Given the description of an element on the screen output the (x, y) to click on. 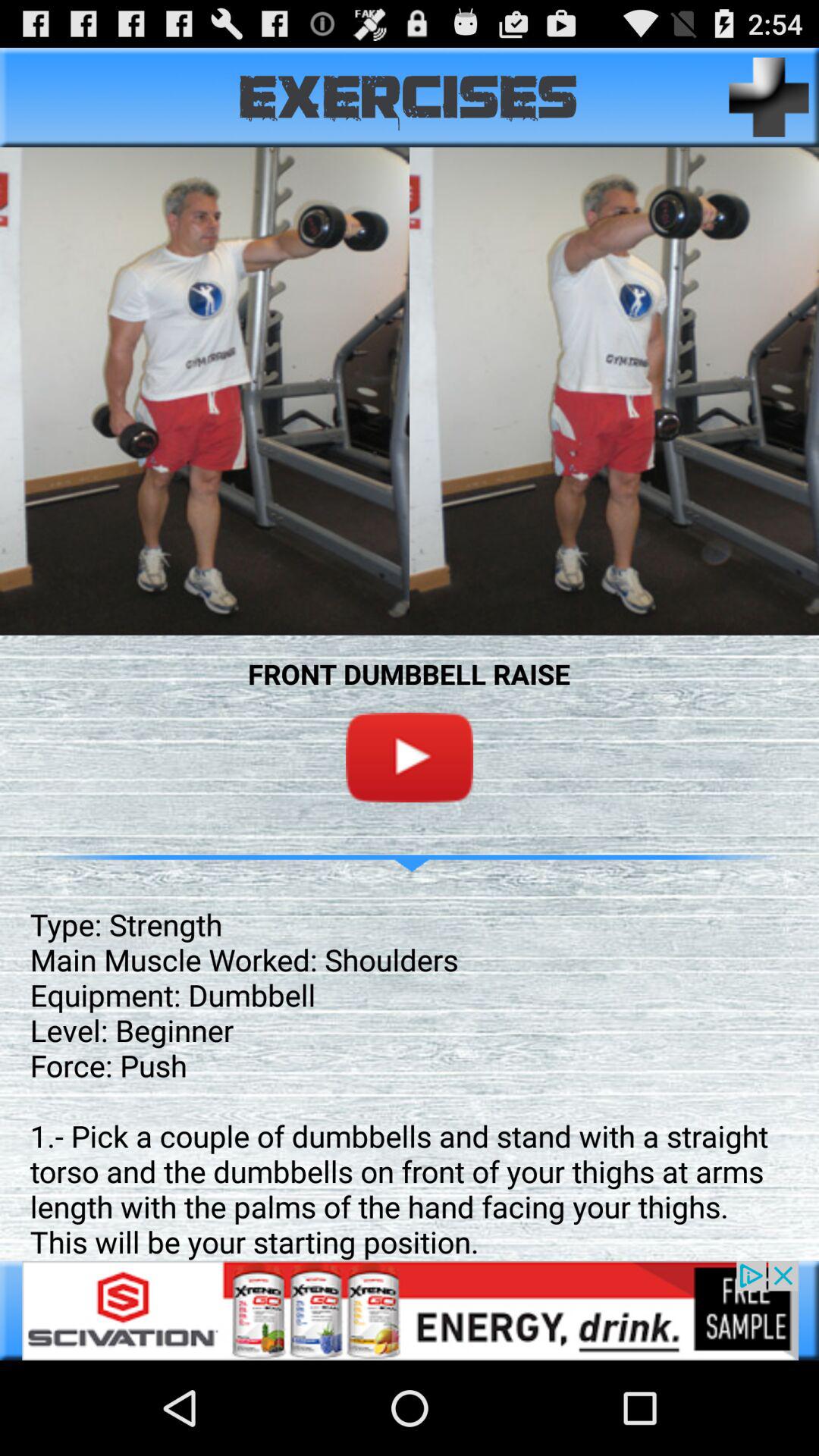
advertisement for scivation (409, 1310)
